Given the description of an element on the screen output the (x, y) to click on. 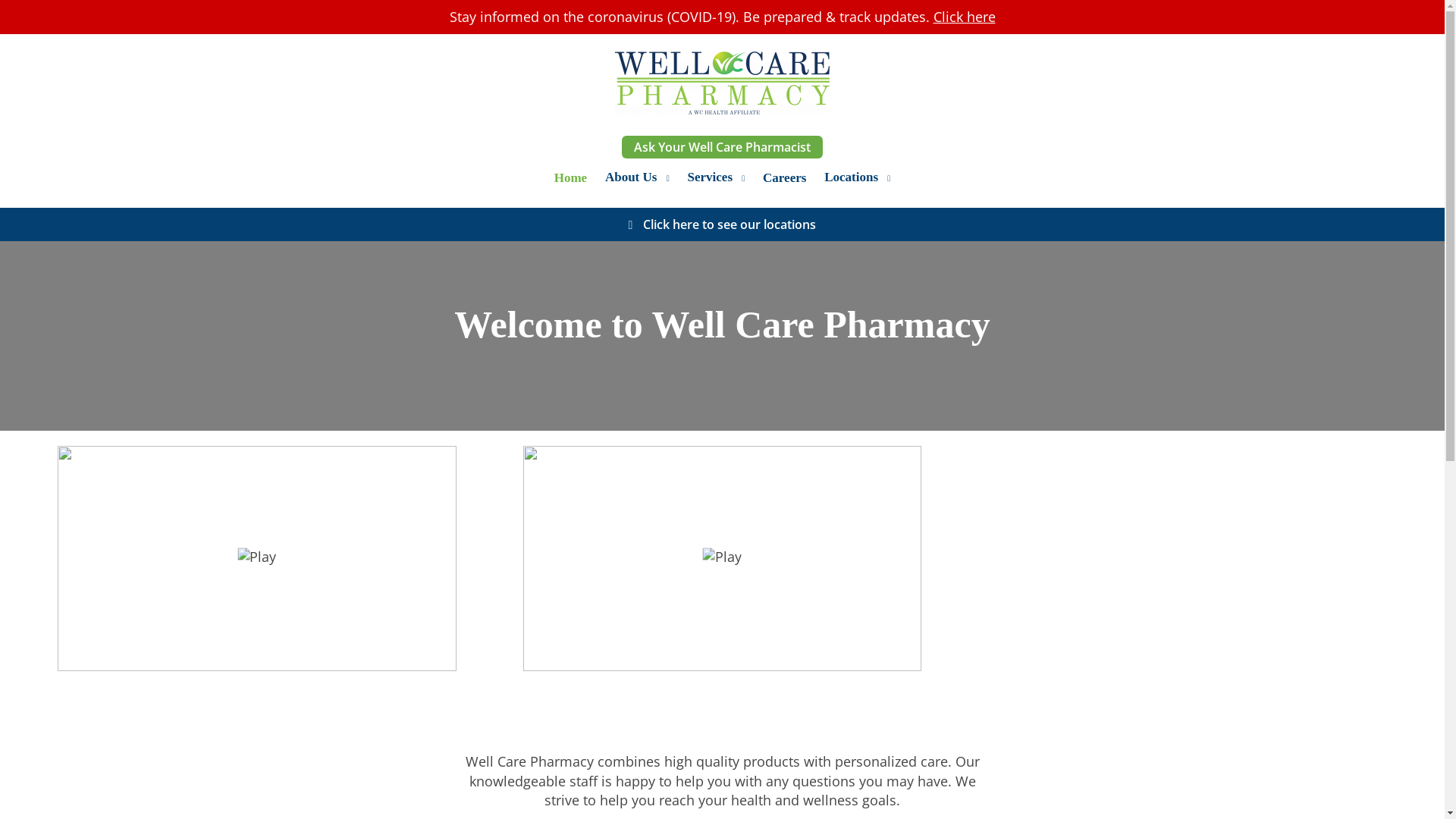
Careers (784, 177)
About Us (631, 176)
Ask Your Well Care Pharmacist (721, 146)
home-video-cover (256, 557)
Click here (963, 16)
Services (709, 176)
WC pharmacy (721, 83)
Home (570, 177)
Locations (850, 176)
Click here to see our locations (729, 224)
